Given the description of an element on the screen output the (x, y) to click on. 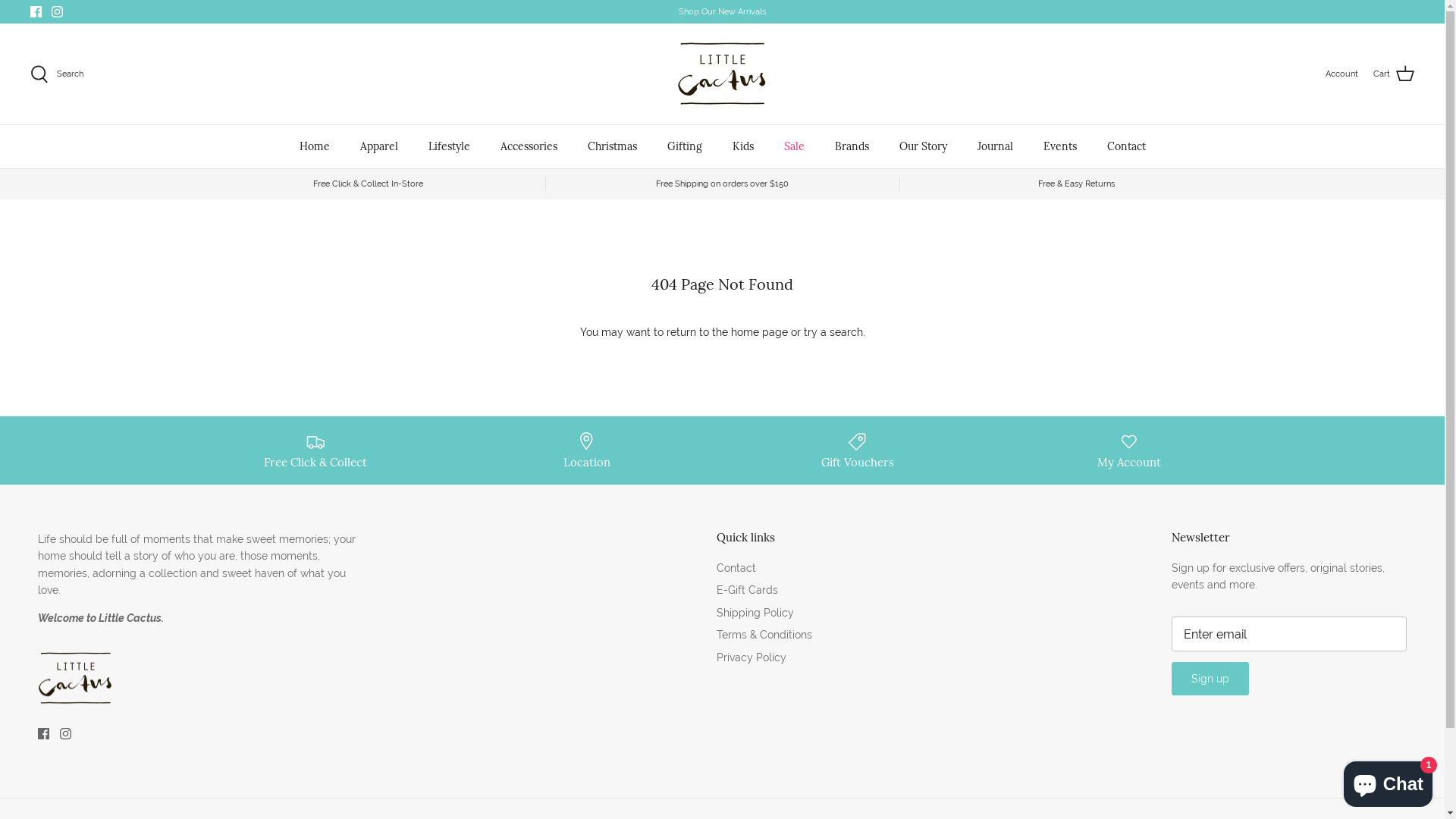
Christmas Element type: text (611, 146)
Search Element type: text (56, 74)
Our Story Element type: text (922, 146)
Accessories Element type: text (528, 146)
home page Element type: text (759, 332)
Shop Our New Arrivals Element type: text (721, 11)
Instagram Element type: text (56, 11)
Location Element type: text (586, 450)
Facebook Element type: text (43, 733)
Cart Element type: text (1393, 74)
Facebook Element type: text (35, 11)
Brands Element type: text (850, 146)
Contact Element type: text (735, 567)
try a search Element type: text (832, 332)
Privacy Policy Element type: text (750, 657)
Home Element type: text (313, 146)
Terms & Conditions Element type: text (763, 634)
Gifting Element type: text (684, 146)
Sign up Element type: text (1209, 678)
Instagram Element type: text (65, 733)
E-Gift Cards Element type: text (746, 589)
Account Element type: text (1341, 74)
Shopify online store chat Element type: hover (1388, 780)
Little Cactus Au Element type: hover (721, 73)
My Account Element type: text (1128, 450)
Journal Element type: text (994, 146)
Contact Element type: text (1126, 146)
Shipping Policy Element type: text (754, 612)
Kids Element type: text (742, 146)
Free Click & Collect Element type: text (315, 450)
Apparel Element type: text (378, 146)
Gift Vouchers Element type: text (858, 450)
Events Element type: text (1059, 146)
Lifestyle Element type: text (448, 146)
Sale Element type: text (794, 146)
